Given the description of an element on the screen output the (x, y) to click on. 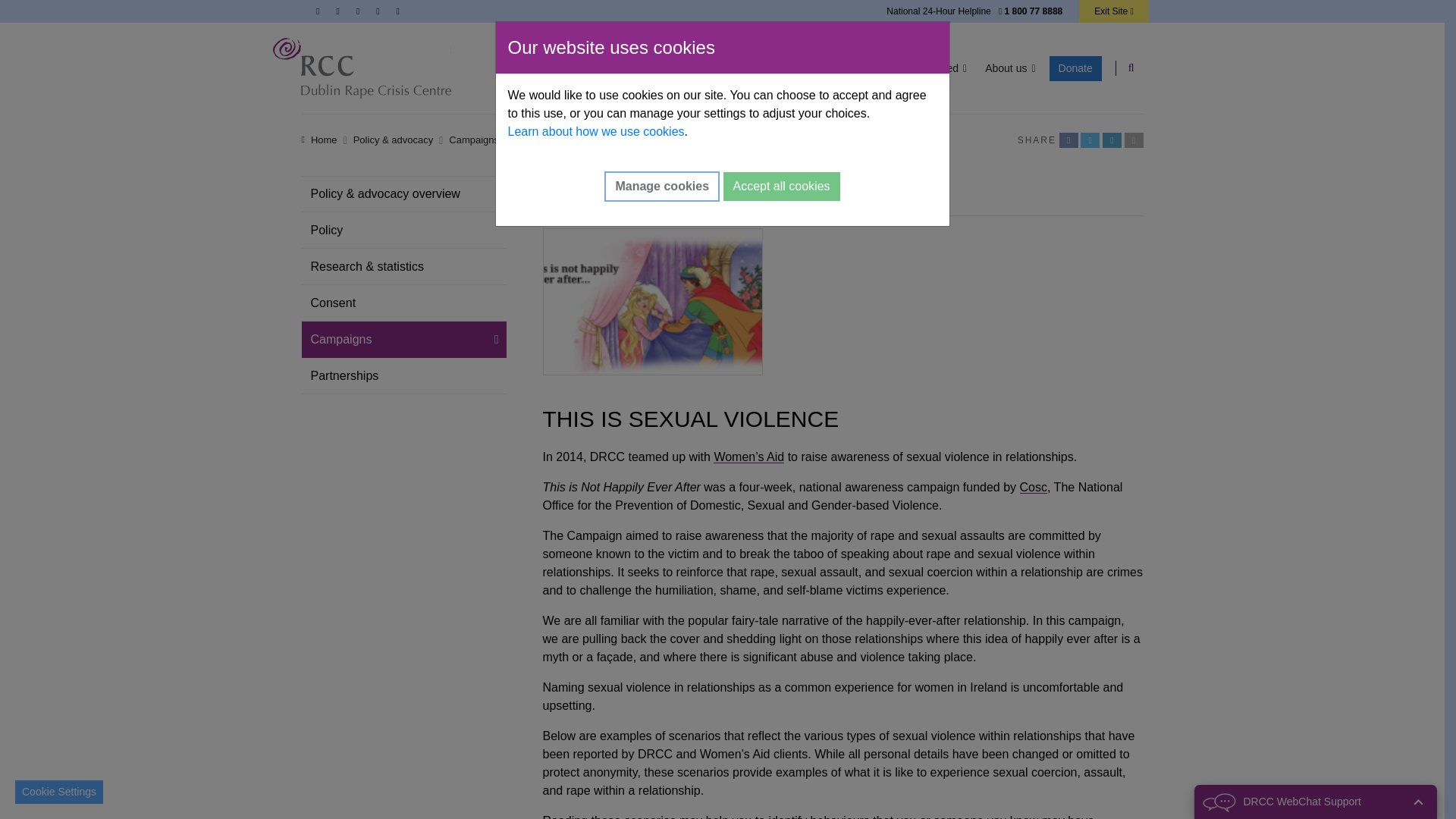
Services (630, 68)
The Dublin Rape Crisis Centre (362, 67)
Get support (555, 68)
